Given the description of an element on the screen output the (x, y) to click on. 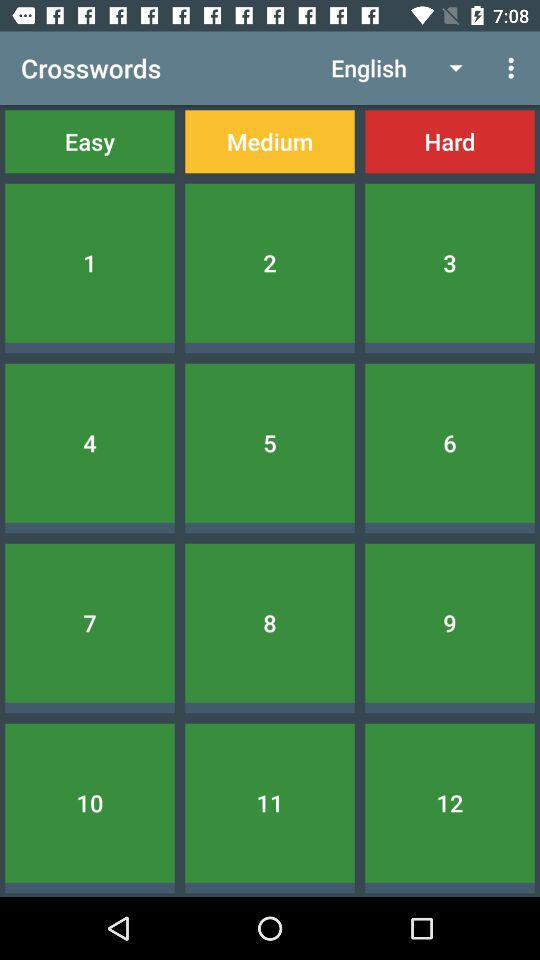
jump until 3 icon (449, 262)
